Given the description of an element on the screen output the (x, y) to click on. 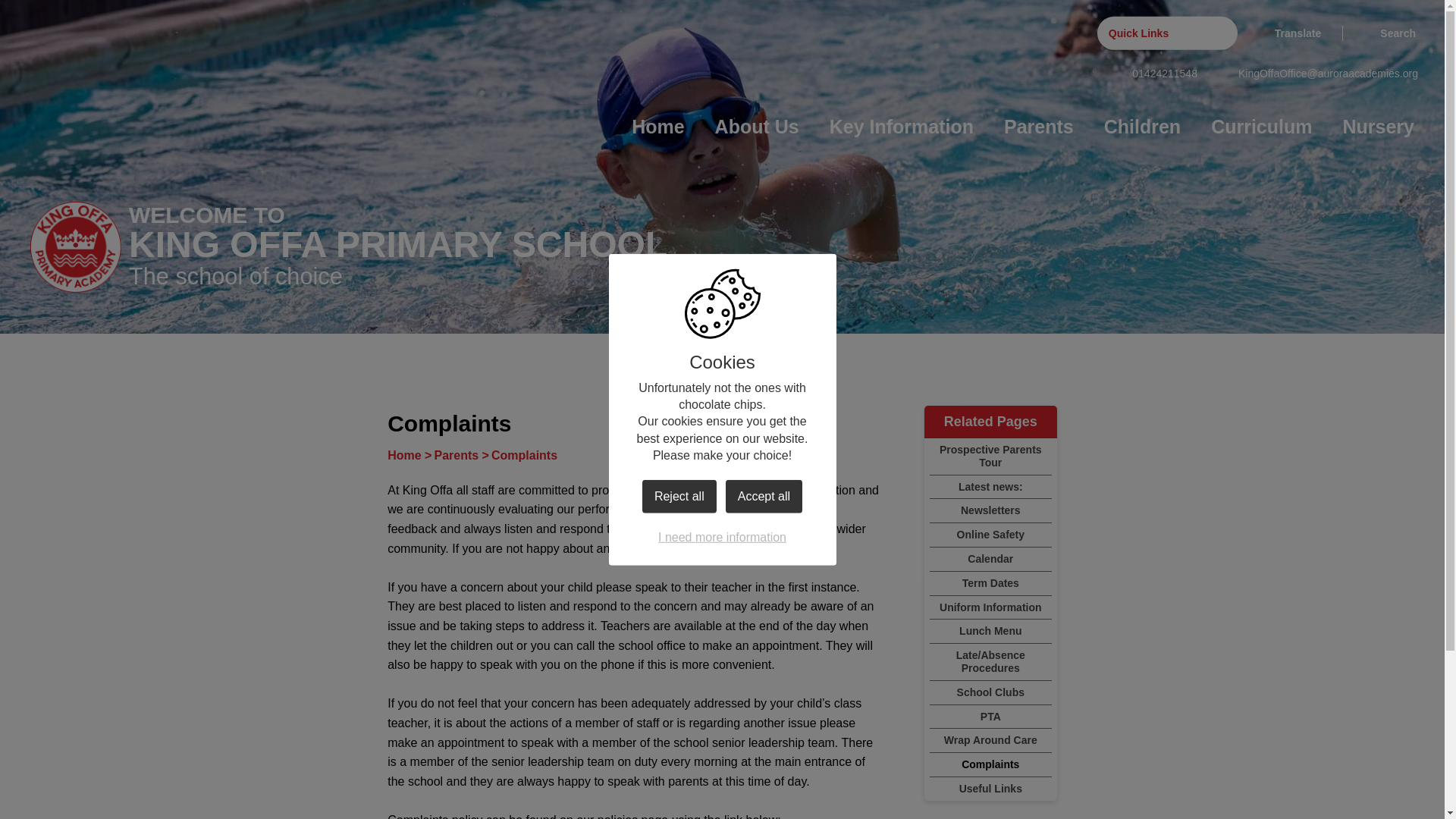
Home (657, 127)
01424211548 (1155, 73)
Parents (1039, 127)
Quick Links (1167, 32)
Search (1390, 32)
About Us (756, 127)
Home Page (75, 246)
Key Information (901, 127)
Translate (1289, 32)
